Given the description of an element on the screen output the (x, y) to click on. 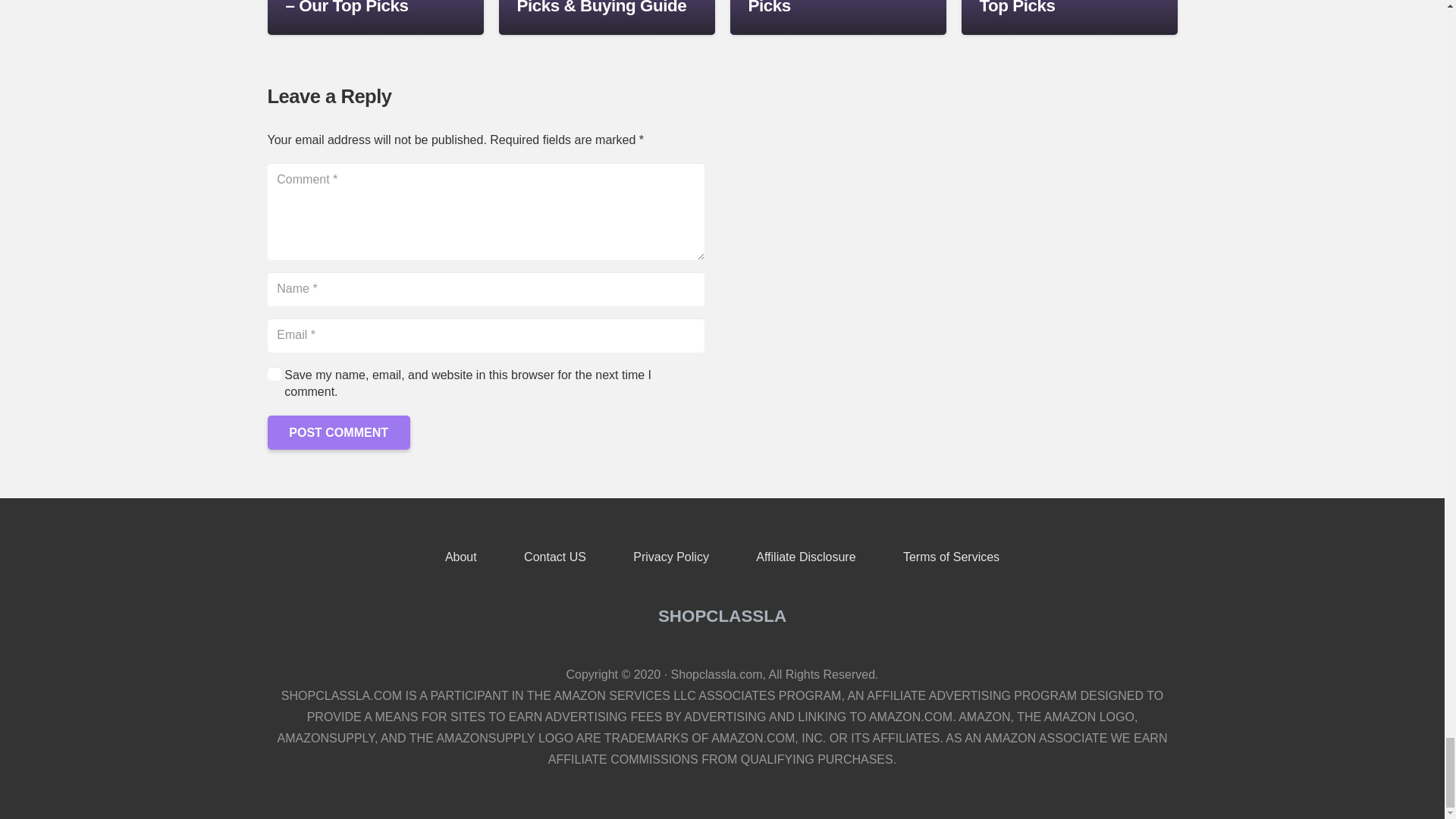
1 (273, 373)
